Given the description of an element on the screen output the (x, y) to click on. 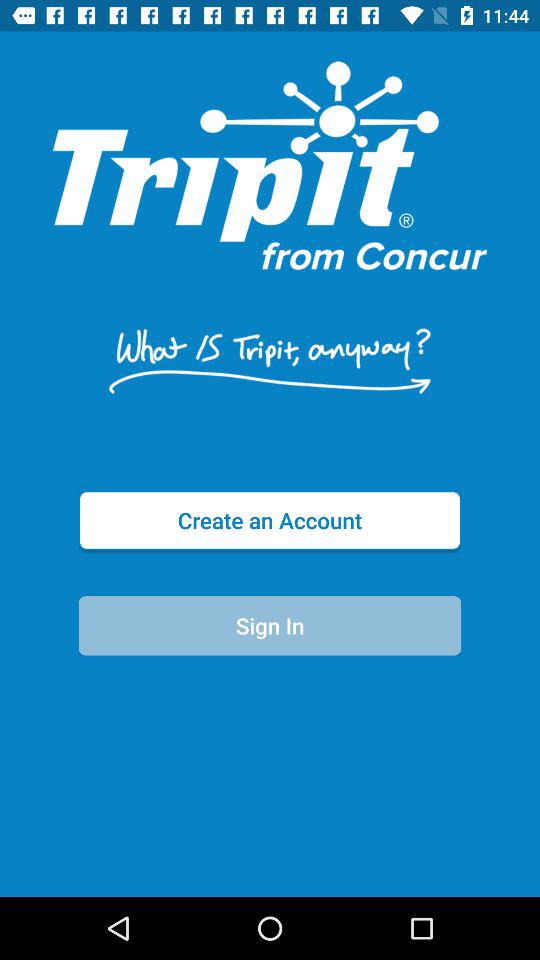
open icon below the create an account item (269, 625)
